Given the description of an element on the screen output the (x, y) to click on. 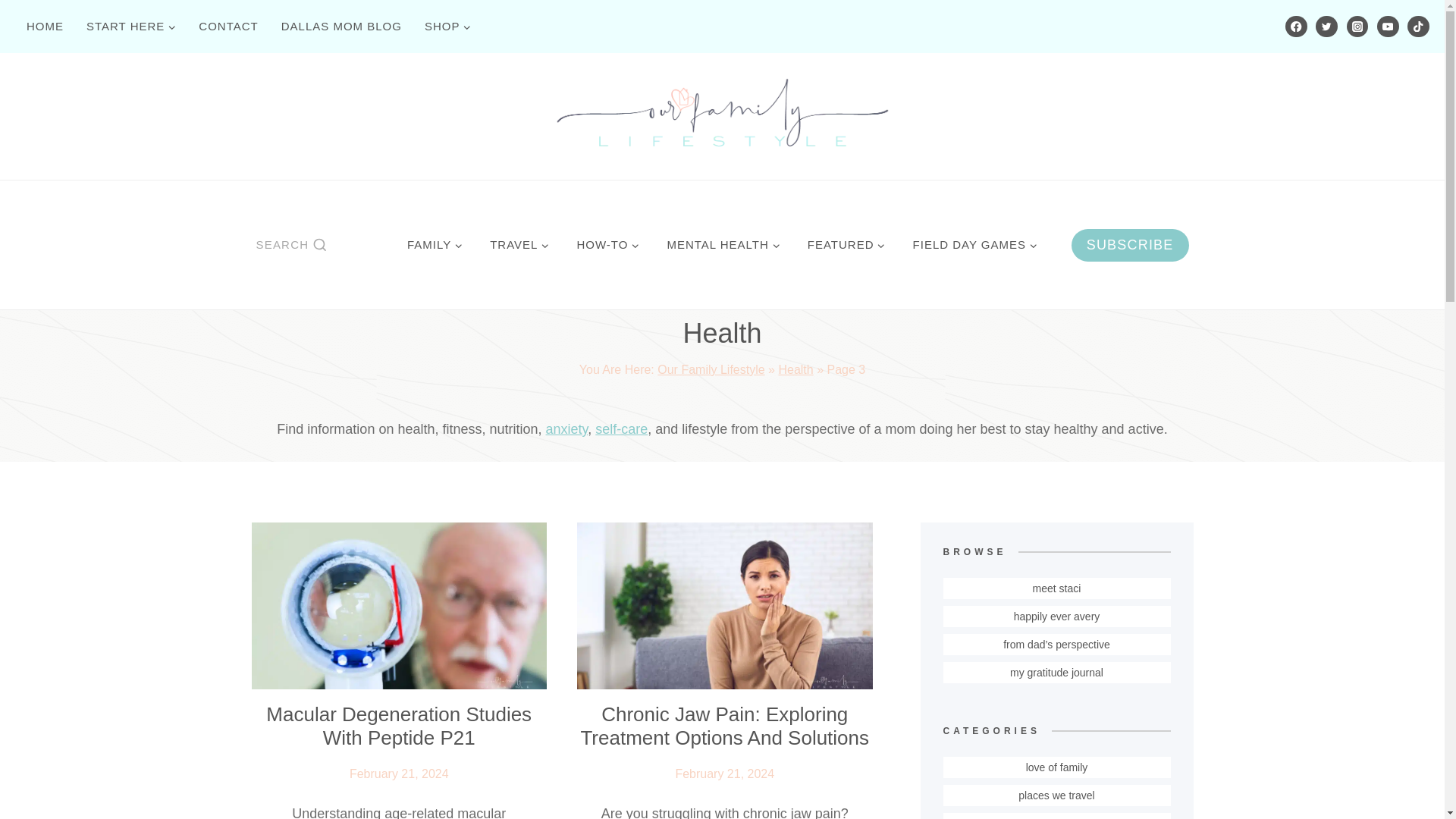
TRAVEL (519, 244)
START HERE (131, 26)
SHOP (448, 26)
HOME (44, 26)
DALLAS MOM BLOG (341, 26)
HOW-TO (607, 244)
CONTACT (228, 26)
FAMILY (434, 244)
SEARCH (291, 244)
